Given the description of an element on the screen output the (x, y) to click on. 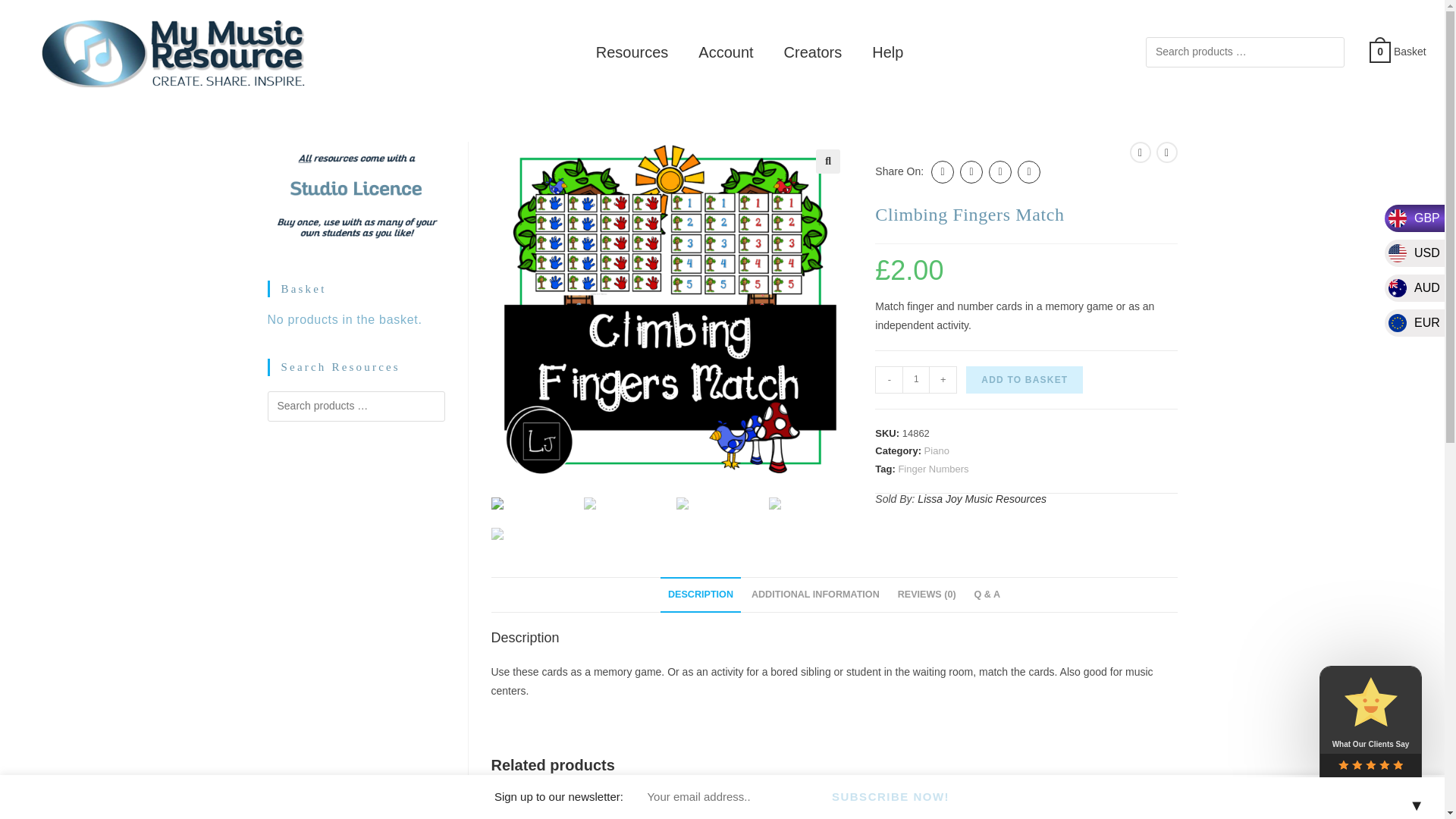
Lissa Joy Music Resources (981, 499)
Subscribe Now! (890, 796)
14862 (1095, 24)
CFM tn (670, 309)
1 (916, 379)
Creators (812, 52)
Ruth Alberici (855, 799)
0 (1380, 50)
Resources (632, 52)
Account (725, 52)
Gwen Harborne (621, 799)
Help (887, 52)
